Given the description of an element on the screen output the (x, y) to click on. 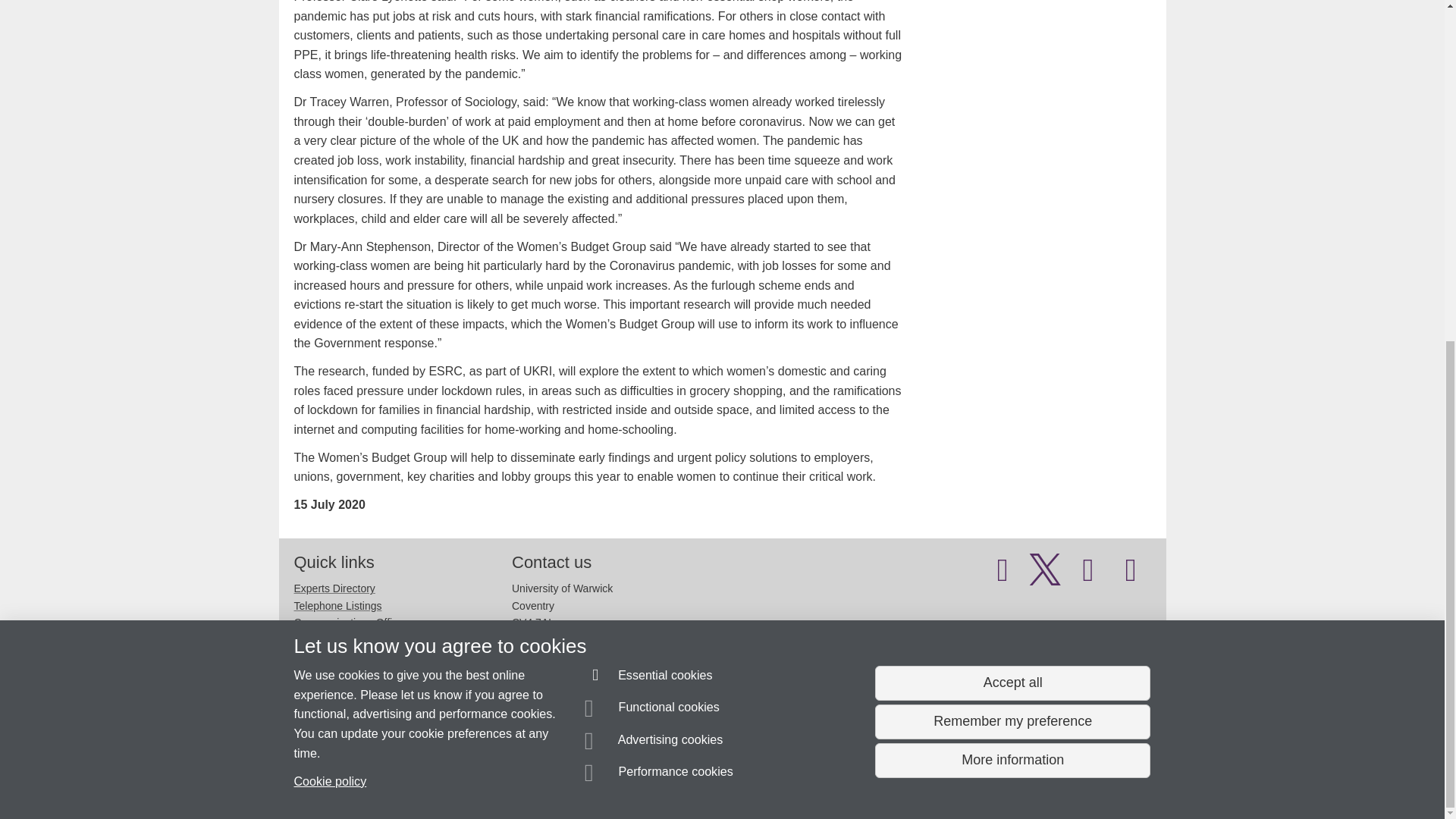
University of Warwick on YouTube (1088, 576)
Privacy notice (673, 780)
University of Warwick on Foursquare (1130, 576)
Copyright Statement (514, 780)
University of Warwick on Facebook (1002, 576)
University of Warwick on Twitter (1045, 576)
